Given the description of an element on the screen output the (x, y) to click on. 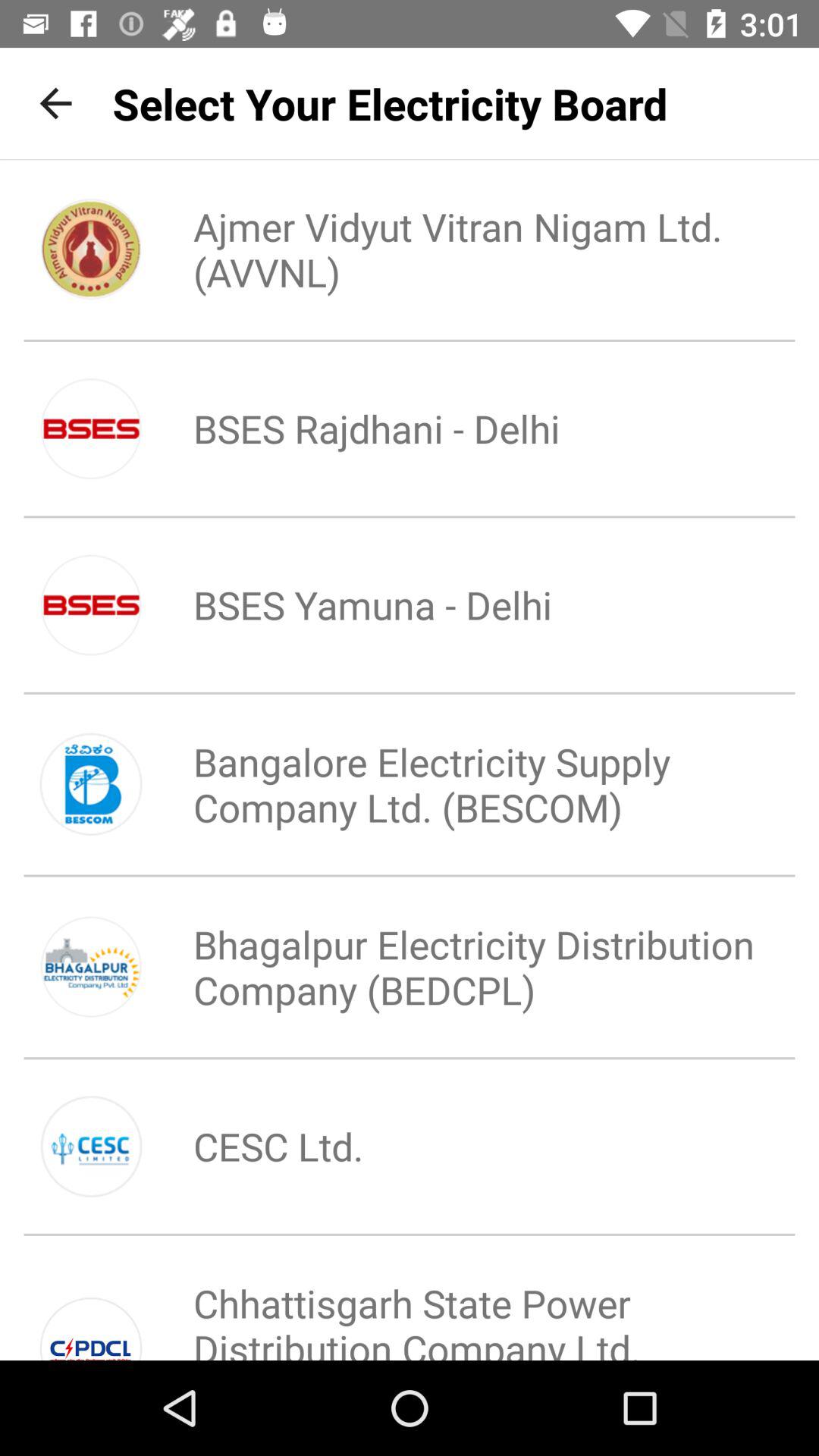
jump until the cesc ltd. (252, 1145)
